Given the description of an element on the screen output the (x, y) to click on. 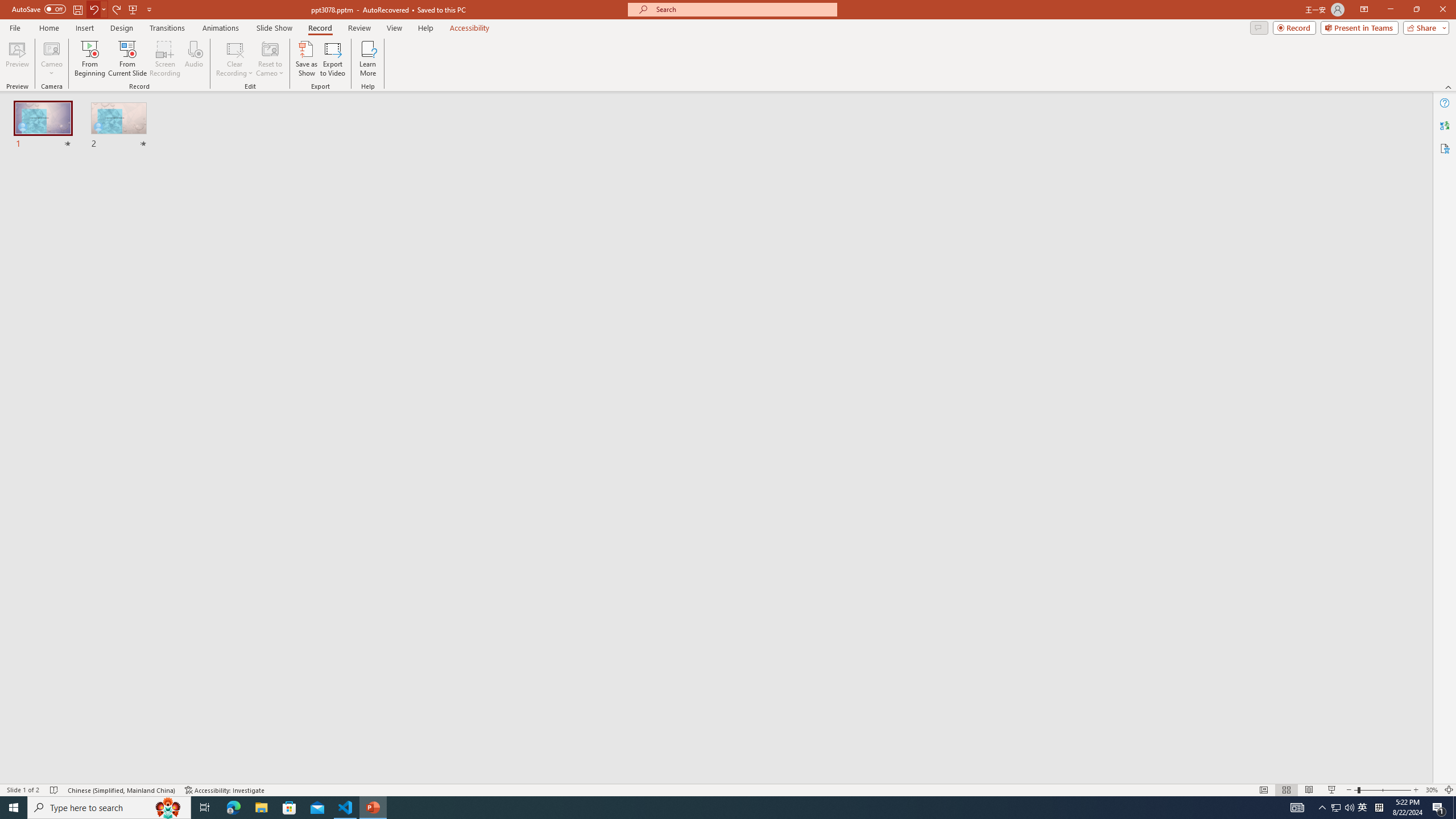
Zoom 30% (1431, 790)
